Given the description of an element on the screen output the (x, y) to click on. 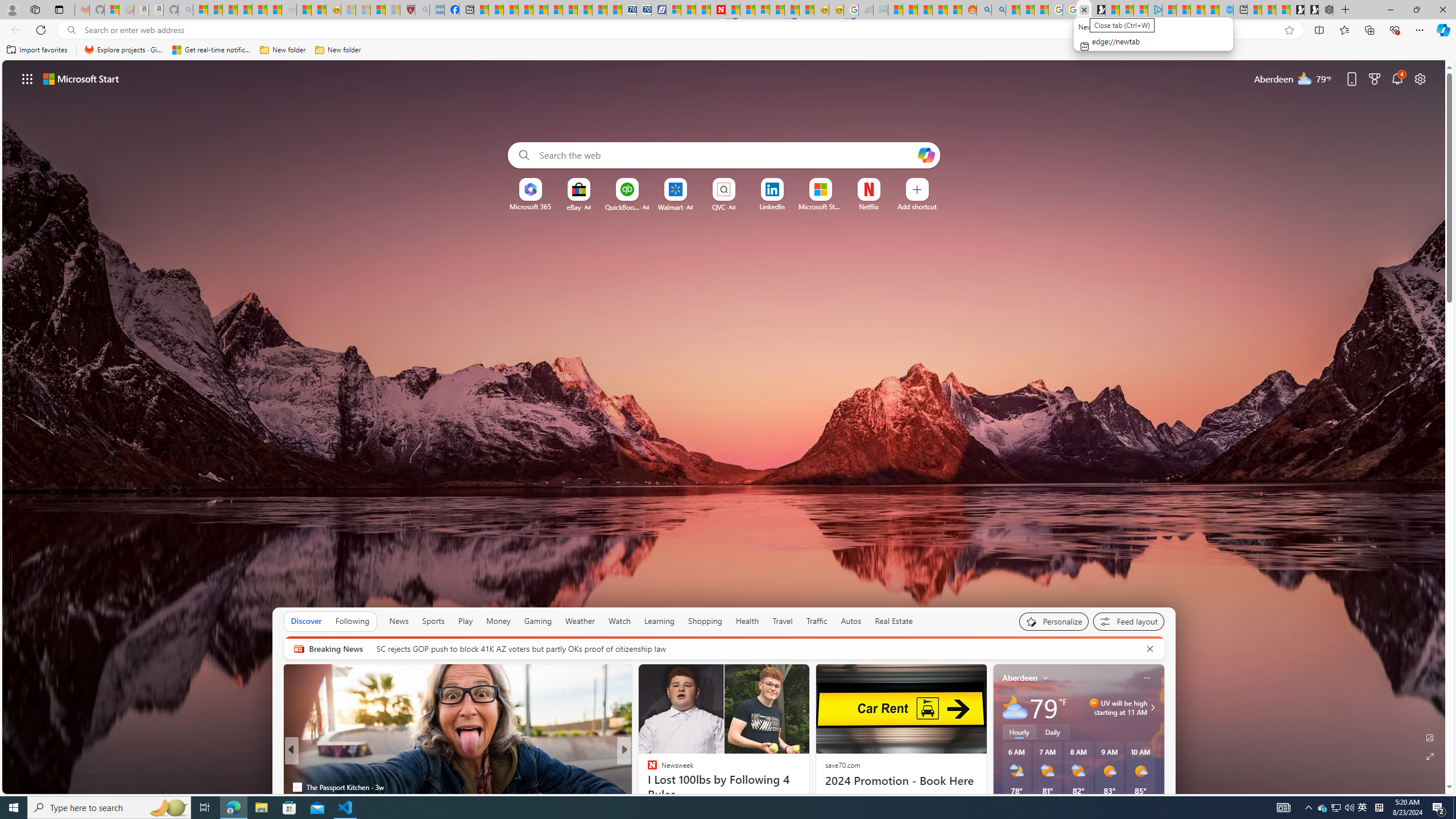
Daily (1052, 731)
Gaming (537, 621)
list of asthma inhalers uk - Search - Sleeping (421, 9)
Autos (850, 621)
Verywell Mind (647, 768)
Mostly cloudy (1014, 707)
Expand background (1430, 756)
Cheap Hotels - Save70.com (643, 9)
Cancel (1150, 648)
